Given the description of an element on the screen output the (x, y) to click on. 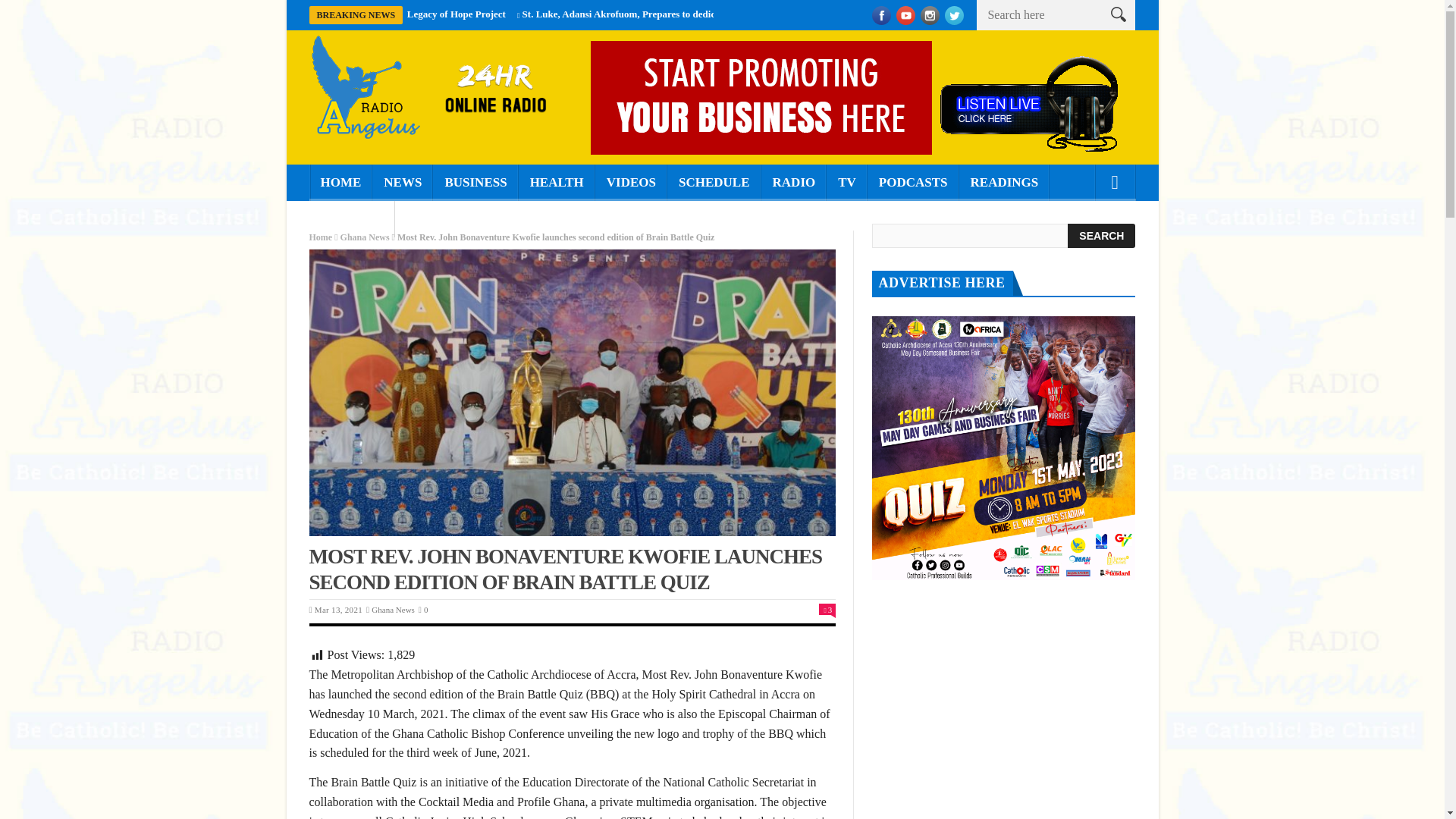
HOME (340, 182)
HEALTH (556, 182)
Like (827, 609)
Search (1101, 235)
NEWS (402, 182)
VIDEOS (630, 182)
St. Luke, Adansi Akrofuom, Prepares to dedicate Church (642, 14)
SCHEDULE (713, 182)
BUSINESS (475, 182)
